Given the description of an element on the screen output the (x, y) to click on. 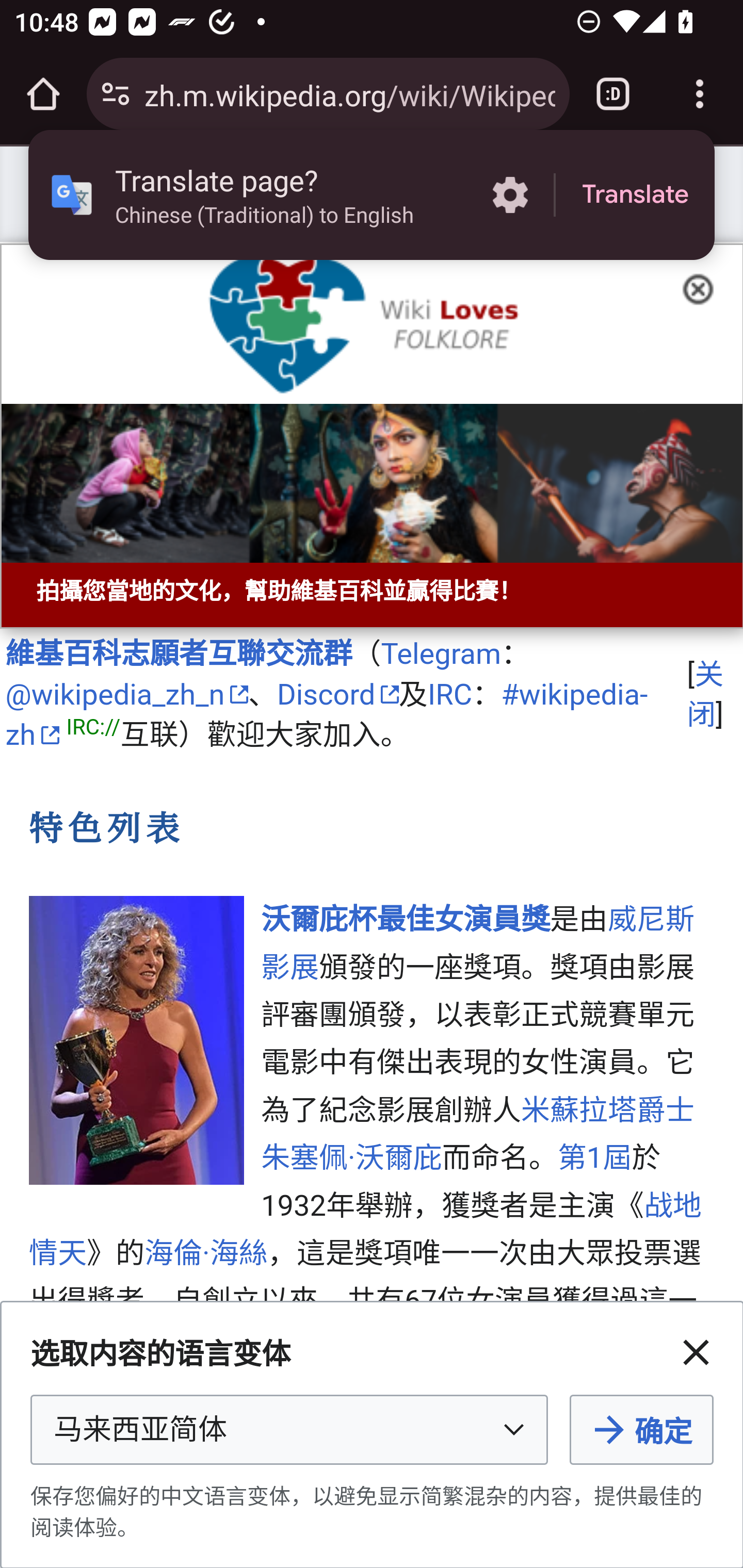
Open the home page (43, 93)
Connection is secure (115, 93)
Switch or close tabs (612, 93)
Customize and control Google Chrome (699, 93)
zh.m.wikipedia.org/wiki/Wikipedia:首页 (349, 92)
Translate (634, 195)
More options in the Translate page? (509, 195)
拍攝您當地的文化，幫助維基百科並贏得比賽！ (371, 435)
隐藏 (703, 286)
維基百科志願者互聯交流群 (178, 653)
Telegram (440, 653)
关闭 (704, 694)
@wikipedia_zh_n (125, 695)
#wikipedia-zh (325, 714)
Discord (337, 695)
IRC (449, 695)
IRC:// (92, 728)
238px-Valeria_Golino%2C_Venice_2015_%28cropped%29 (136, 1040)
沃爾庇杯最佳女演員獎 (405, 921)
威尼斯影展 (477, 944)
米蘇拉塔爵士朱塞佩·沃爾庇 (477, 1134)
第1屆 (594, 1159)
战地情天 (365, 1229)
海倫·海絲 (206, 1253)
关闭 (695, 1352)
莎莉·麥克琳 (365, 1372)
选取内容的语言变体 (288, 1429)
确定 (641, 1429)
